Given the description of an element on the screen output the (x, y) to click on. 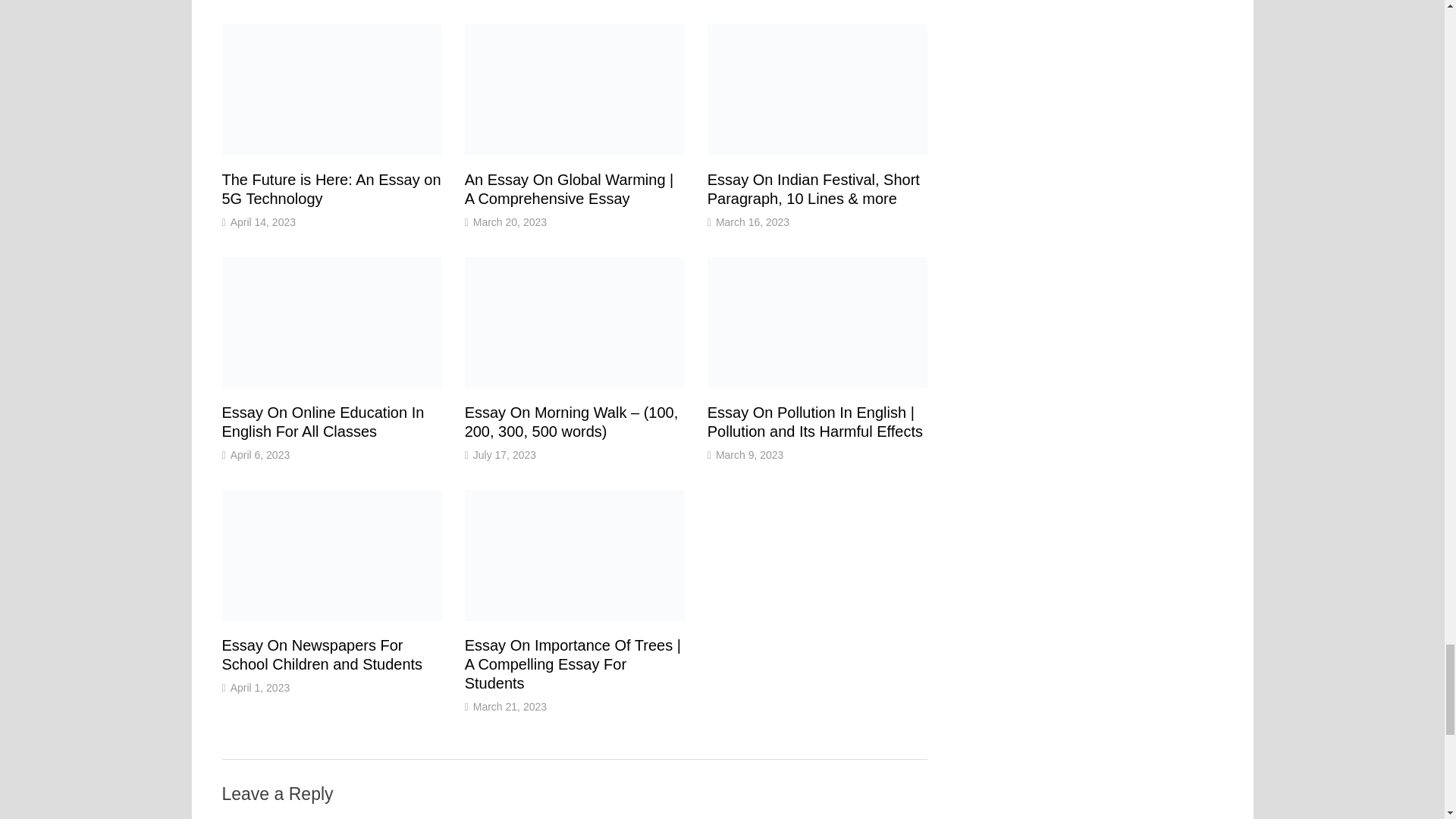
Essay On Online Education In English For All Classes (322, 421)
Essay On Newspapers For School Children and Students (321, 654)
The Future is Here: An Essay on 5G Technology (331, 189)
